Given the description of an element on the screen output the (x, y) to click on. 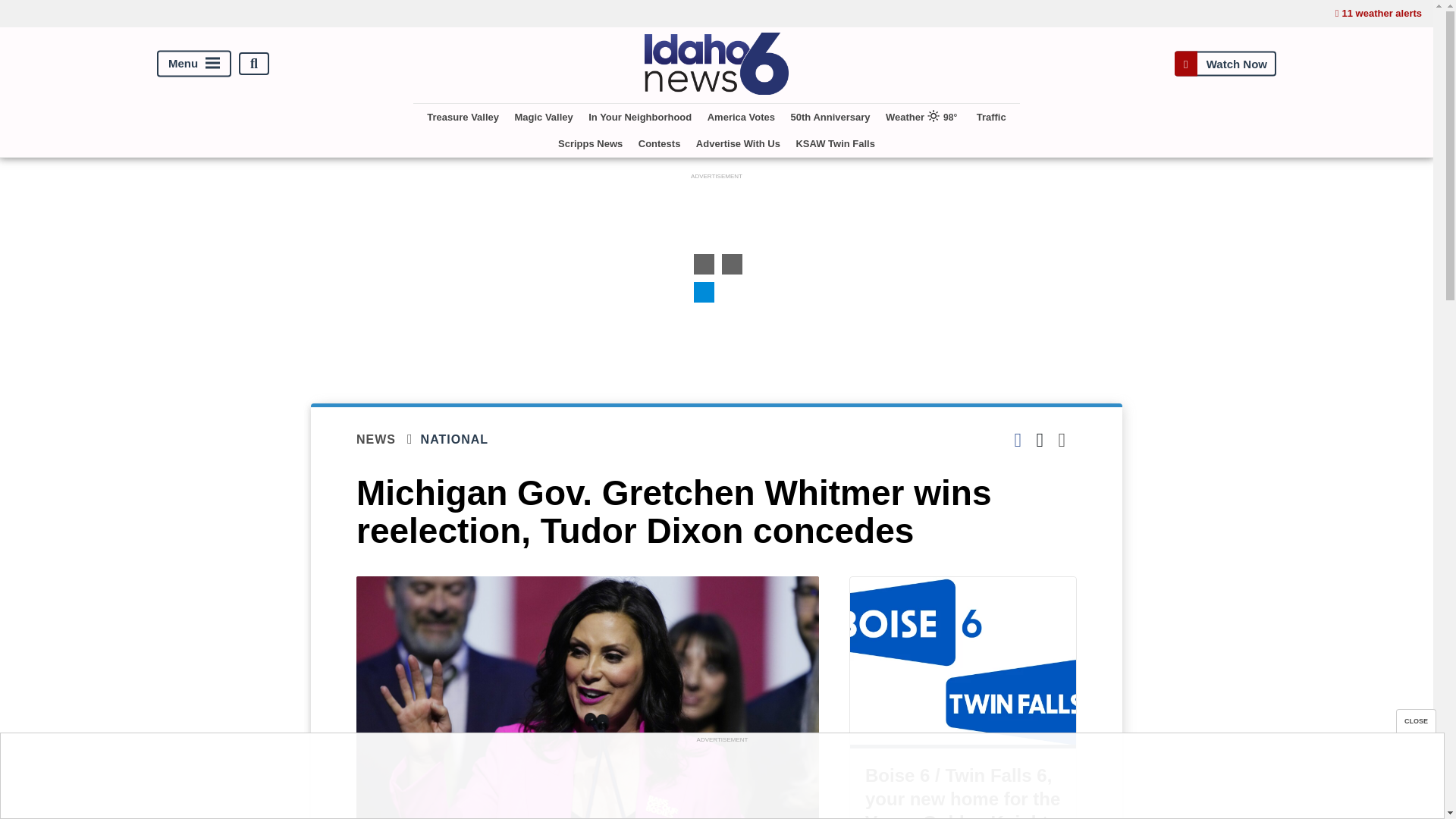
Watch Now (1224, 63)
Menu (194, 63)
3rd party ad content (721, 780)
